Given the description of an element on the screen output the (x, y) to click on. 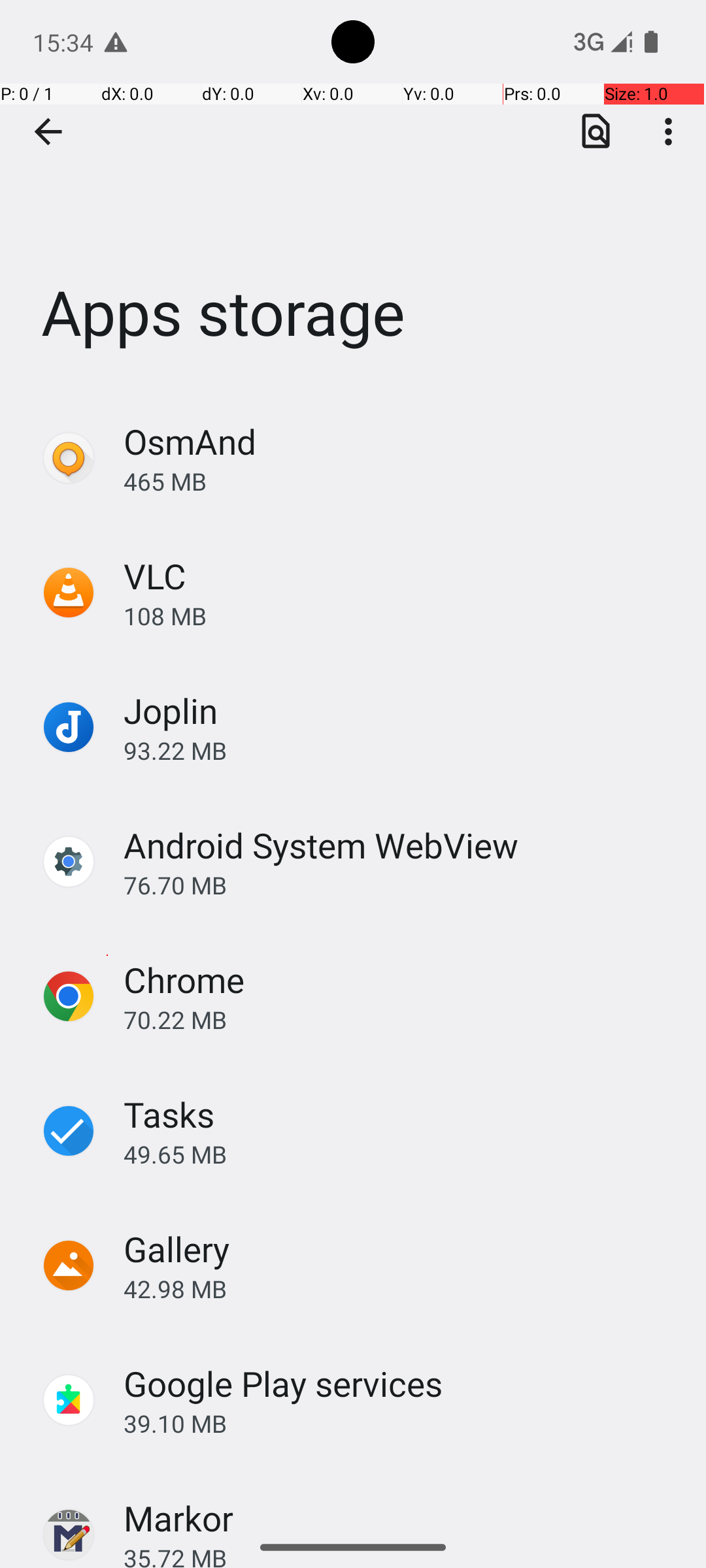
Apps storage Element type: android.widget.FrameLayout (353, 195)
OsmAnd Element type: android.widget.TextView (189, 441)
465 MB Element type: android.widget.TextView (400, 480)
108 MB Element type: android.widget.TextView (400, 615)
93.22 MB Element type: android.widget.TextView (400, 750)
Android System WebView Element type: android.widget.TextView (320, 844)
76.70 MB Element type: android.widget.TextView (400, 884)
70.22 MB Element type: android.widget.TextView (400, 1019)
49.65 MB Element type: android.widget.TextView (400, 1153)
42.98 MB Element type: android.widget.TextView (400, 1288)
Google Play services Element type: android.widget.TextView (283, 1383)
39.10 MB Element type: android.widget.TextView (400, 1422)
